Given the description of an element on the screen output the (x, y) to click on. 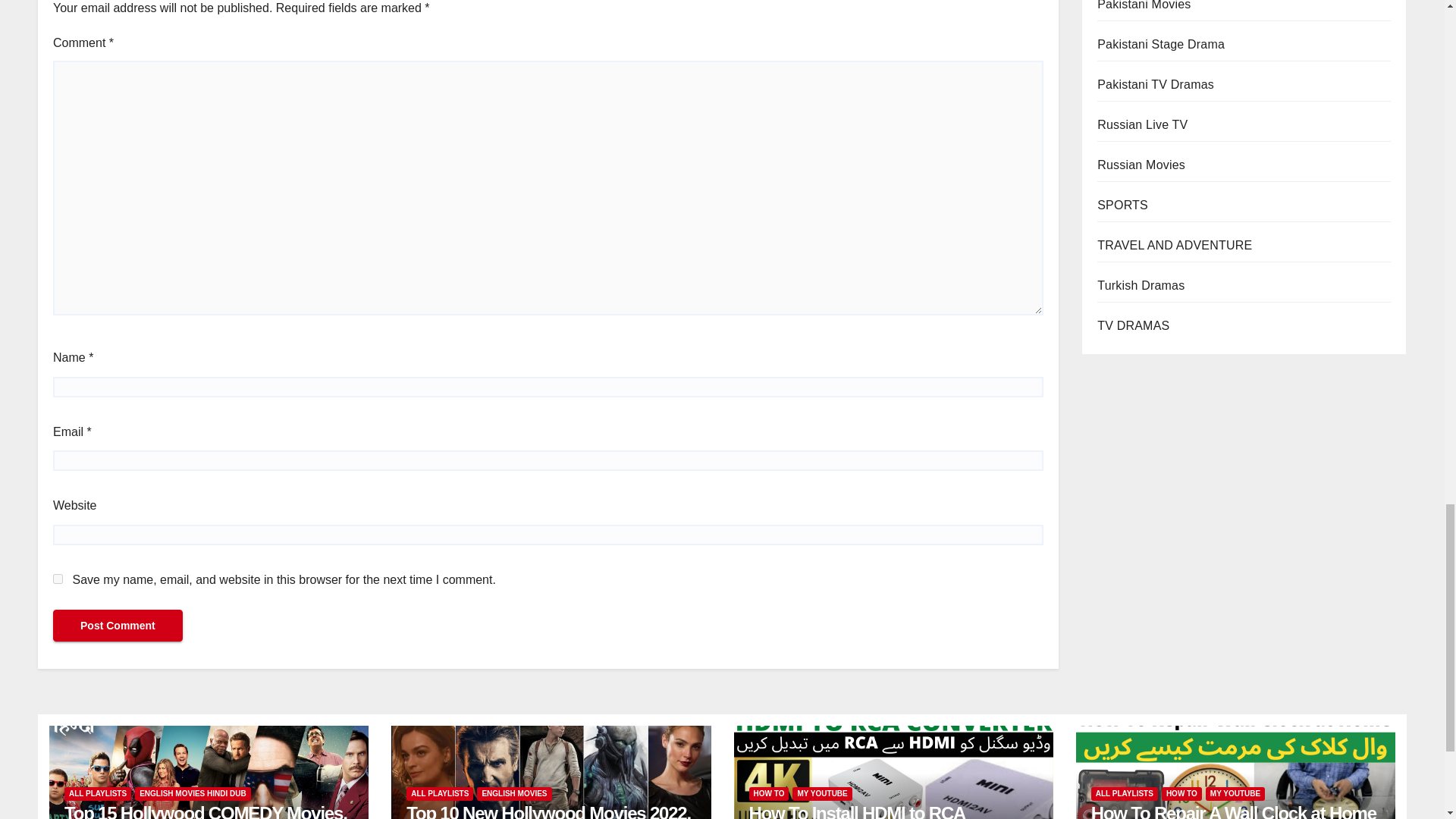
Post Comment (117, 625)
yes (57, 578)
